Given the description of an element on the screen output the (x, y) to click on. 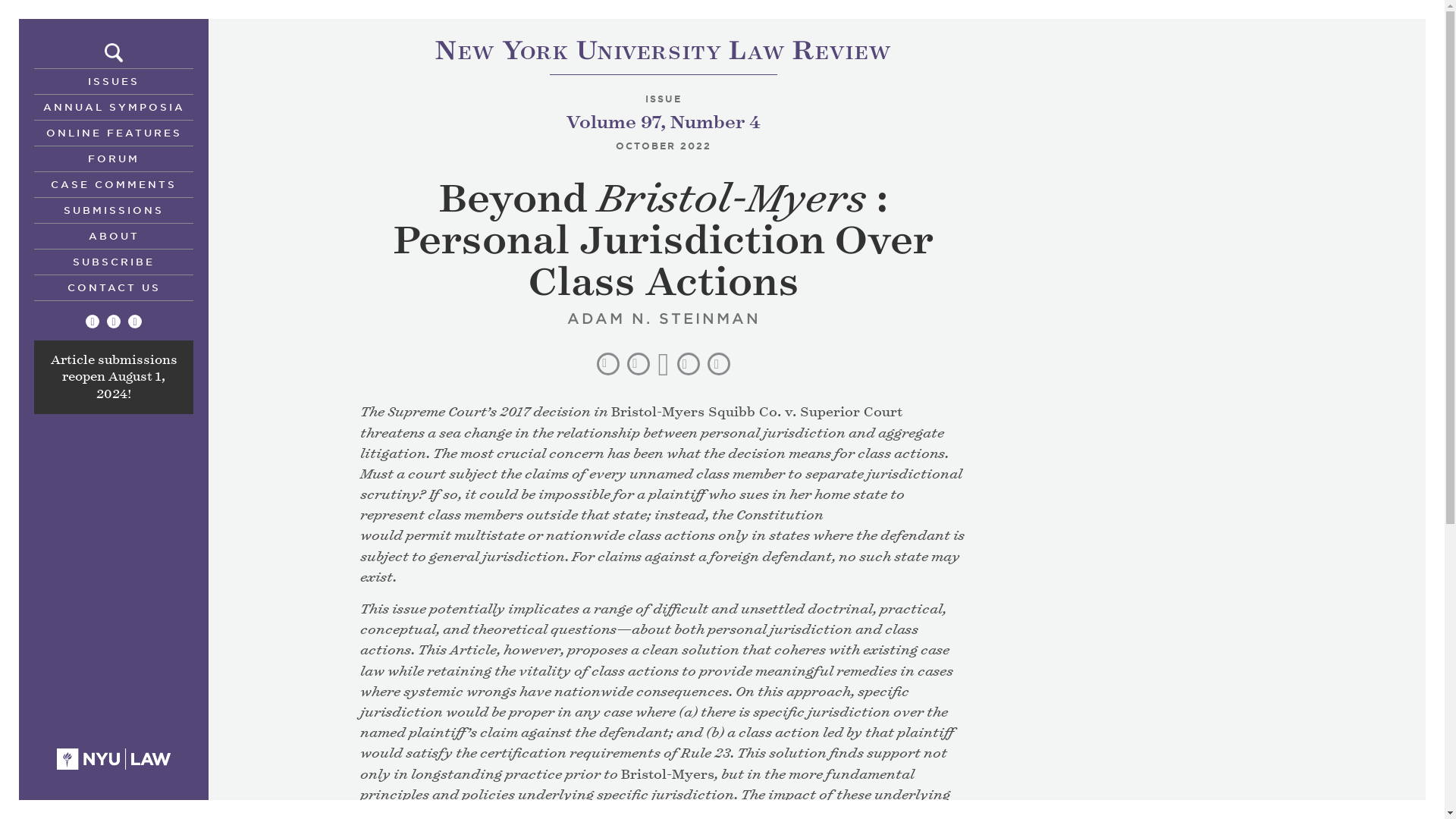
Article submissions reopen August 1, 2024! (112, 377)
ISSUES (113, 80)
Volume 97, Number 4 (663, 122)
Facebook (113, 321)
CONTACT US (113, 287)
CASE COMMENTS (113, 184)
ABOUT (113, 235)
Linkedin (134, 321)
FORUM (113, 158)
ONLINE FEATURES (113, 132)
